Given the description of an element on the screen output the (x, y) to click on. 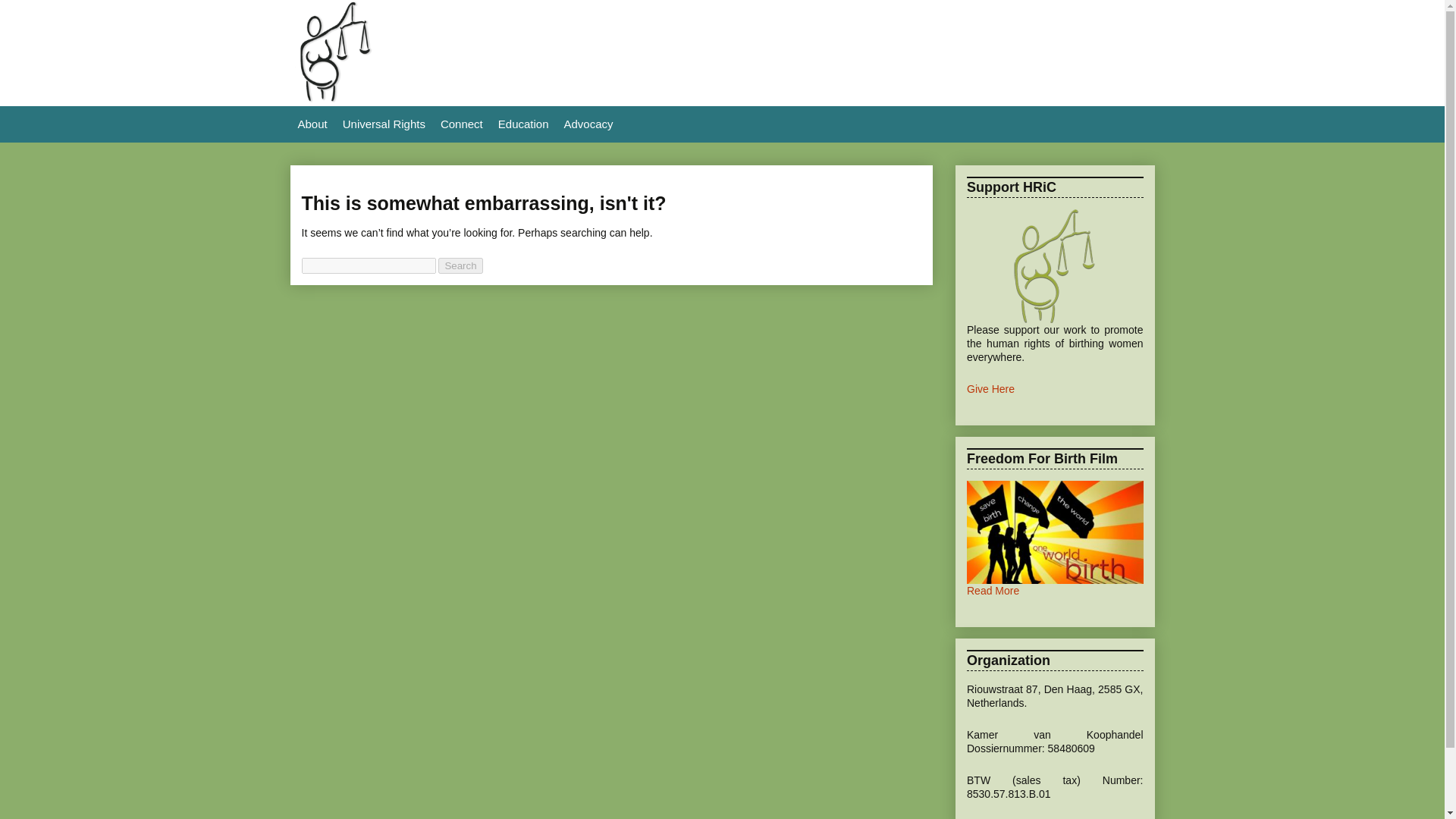
About (311, 124)
Give Here (990, 388)
Connect (461, 124)
Read More (992, 590)
Advocacy (588, 124)
Education (523, 124)
Search (459, 265)
Logo (333, 99)
Search (459, 265)
Universal Rights (383, 124)
